Given the description of an element on the screen output the (x, y) to click on. 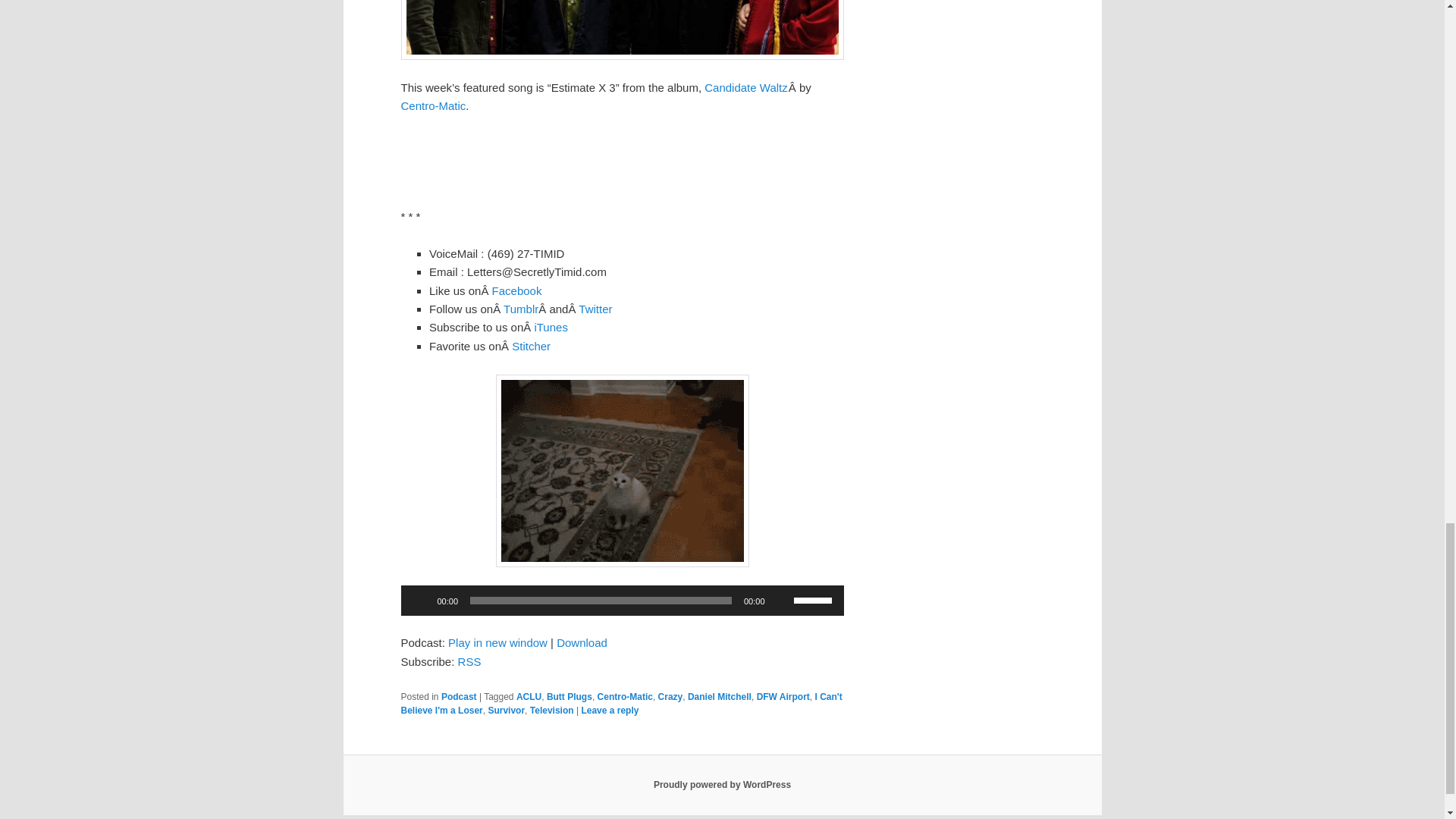
Butt Plugs (569, 696)
Play (420, 600)
Centro-Matic (432, 105)
centromatic (621, 29)
Mute (781, 600)
Twitter (594, 308)
ACLU (528, 696)
Download (581, 642)
Tumblr (520, 308)
Facebook (516, 290)
Subscribe via RSS (469, 661)
Podcast (459, 696)
Download (581, 642)
Stitcher (531, 345)
Candidate Waltz (745, 87)
